Given the description of an element on the screen output the (x, y) to click on. 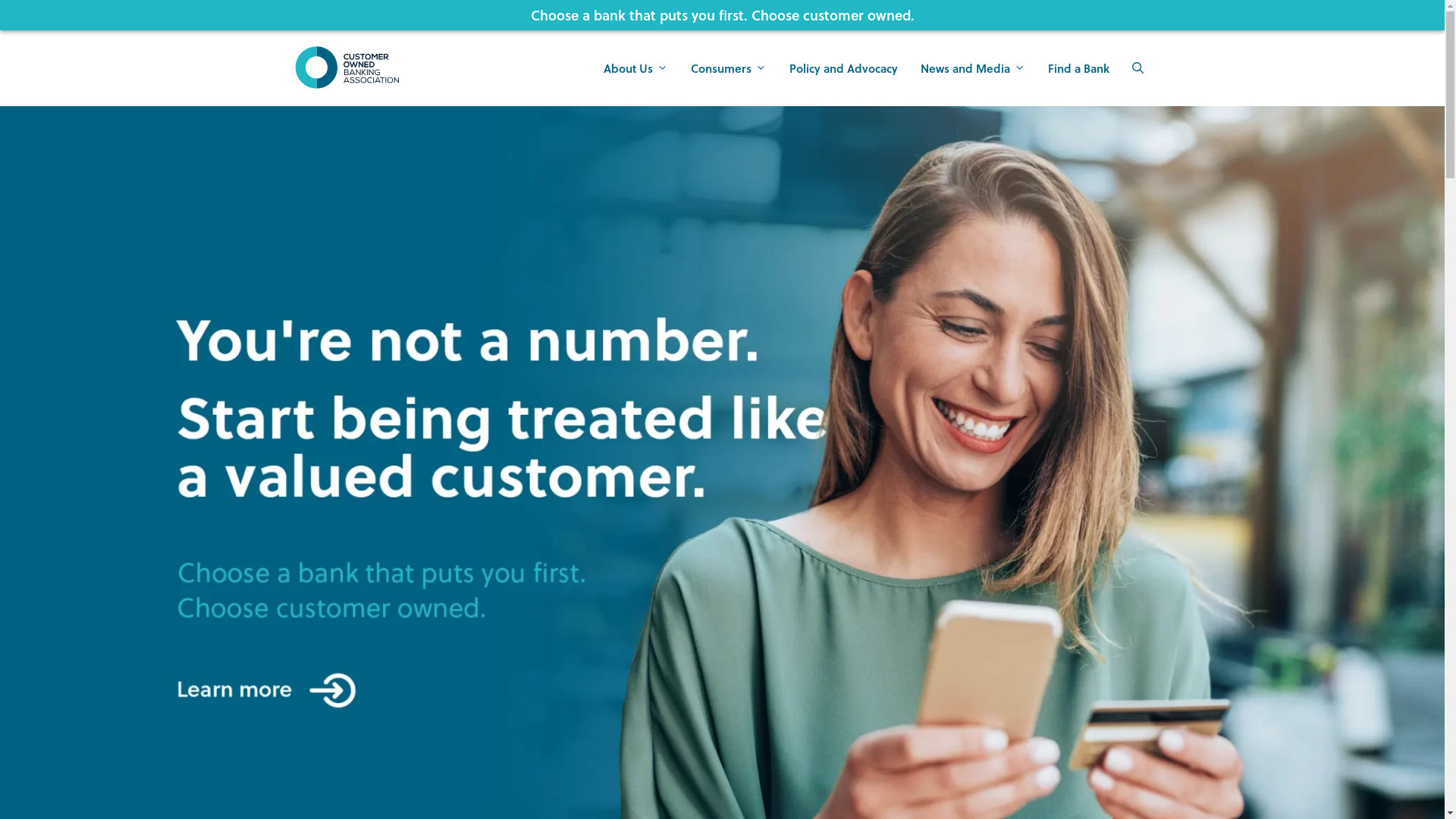
Policy and Advocacy Element type: text (843, 68)
About Us Element type: text (634, 68)
Consumers Element type: text (728, 68)
Find a Bank Element type: text (1077, 68)
Customer Owned Banking Association Element type: hover (346, 66)
News and Media Element type: text (971, 68)
Choose a bank that puts you first. Choose customer owned. Element type: text (722, 15)
